Given the description of an element on the screen output the (x, y) to click on. 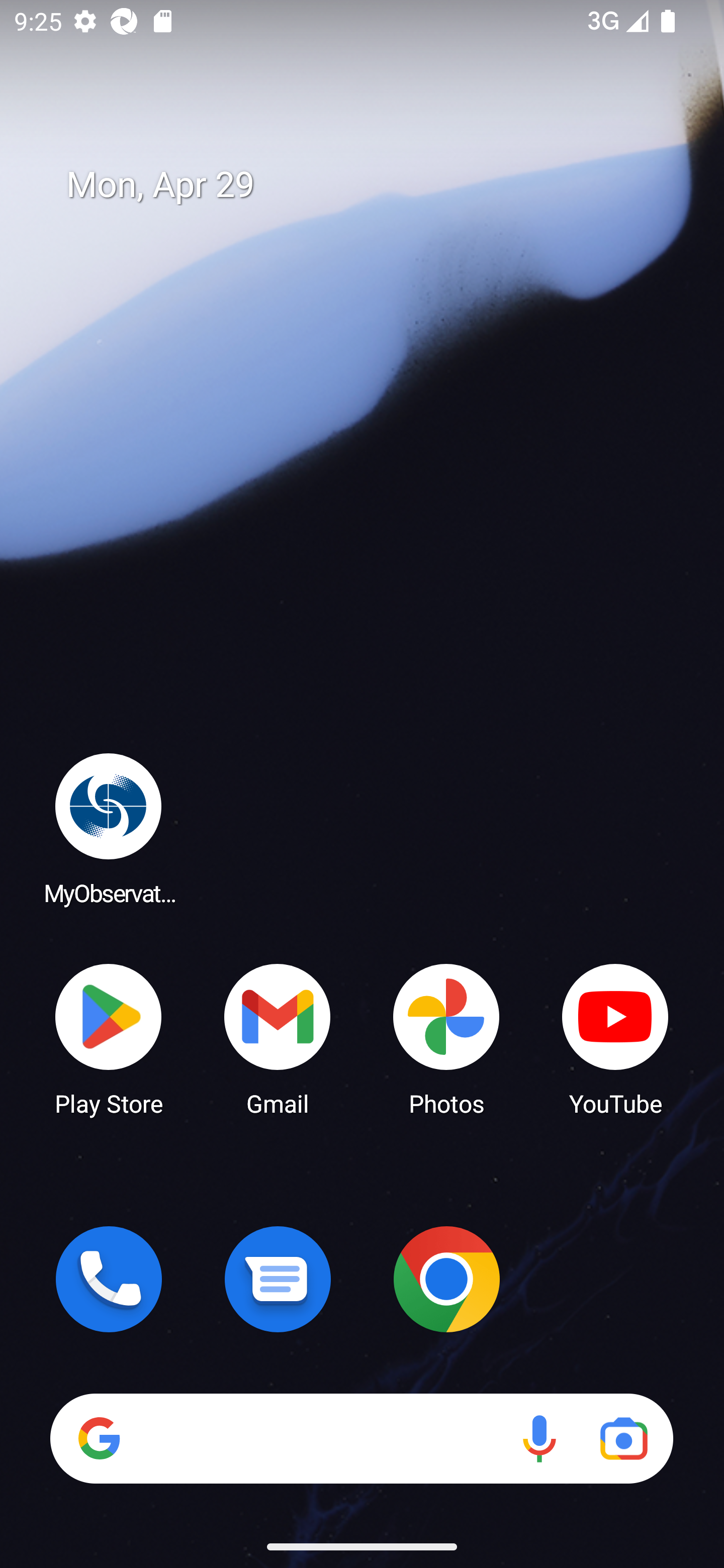
Mon, Apr 29 (375, 184)
MyObservatory (108, 828)
Play Store (108, 1038)
Gmail (277, 1038)
Photos (445, 1038)
YouTube (615, 1038)
Phone (108, 1279)
Messages (277, 1279)
Chrome (446, 1279)
Voice search (539, 1438)
Google Lens (623, 1438)
